Given the description of an element on the screen output the (x, y) to click on. 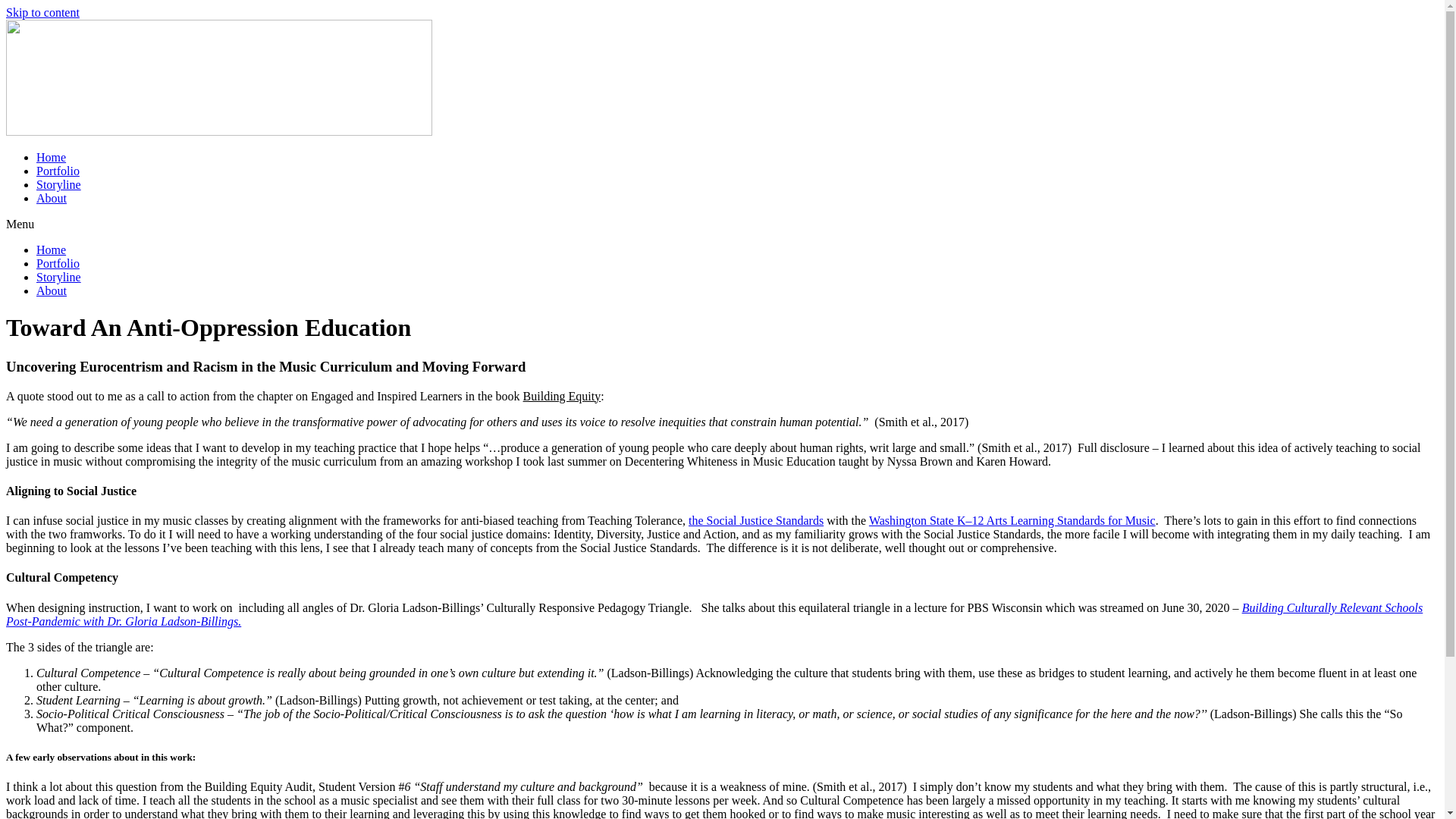
Skip to content (42, 11)
Portfolio (58, 170)
Home (50, 249)
Portfolio (58, 263)
Home (50, 156)
Storyline (58, 277)
Storyline (58, 184)
About (51, 197)
About (51, 290)
